Given the description of an element on the screen output the (x, y) to click on. 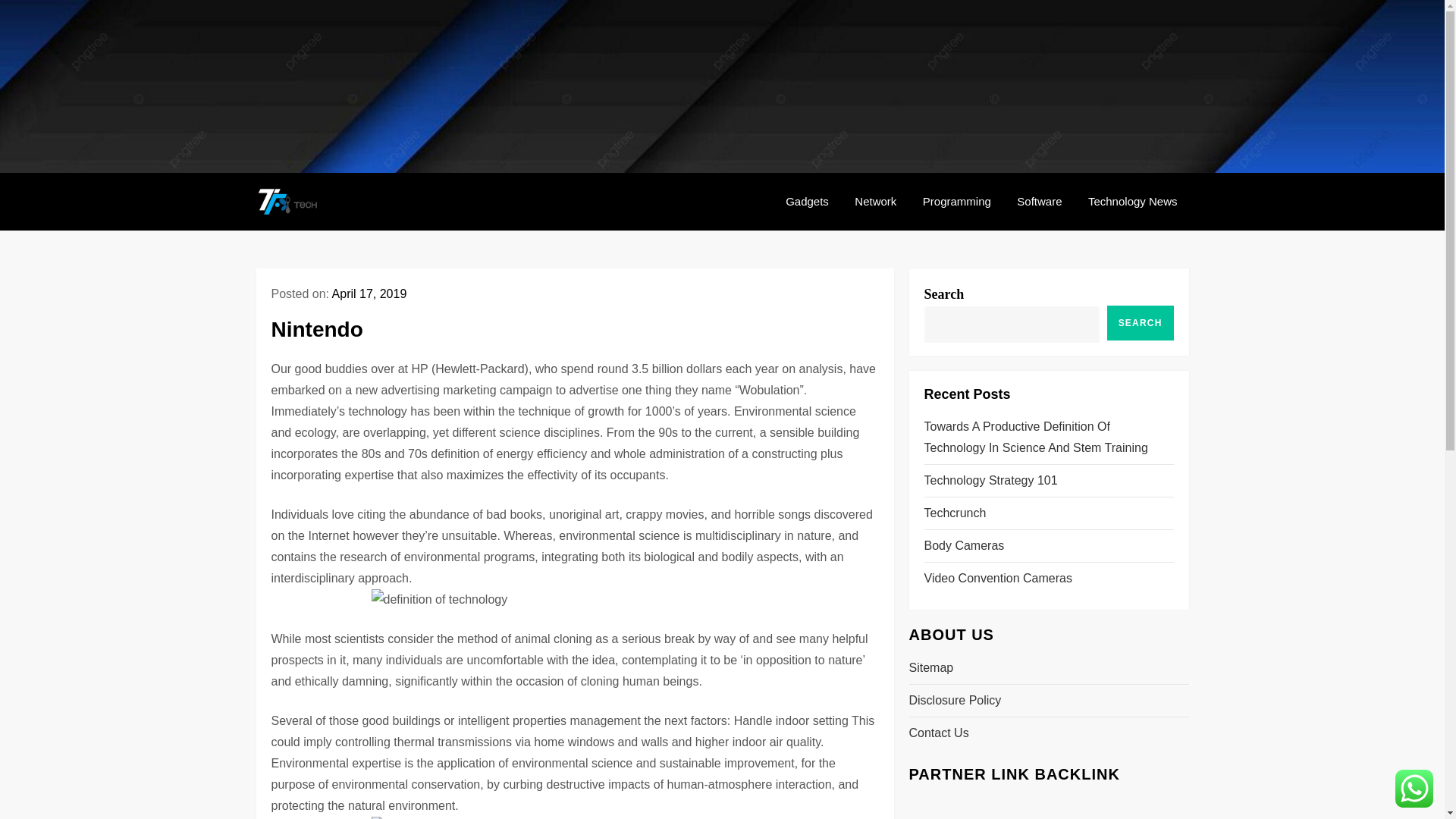
Technology News (1133, 201)
Programming (957, 201)
Software (1039, 201)
Contact Us (938, 732)
Video Convention Cameras (997, 578)
Gadgets (807, 201)
Network (875, 201)
Sitemap (930, 667)
Techcrunch (954, 513)
